Given the description of an element on the screen output the (x, y) to click on. 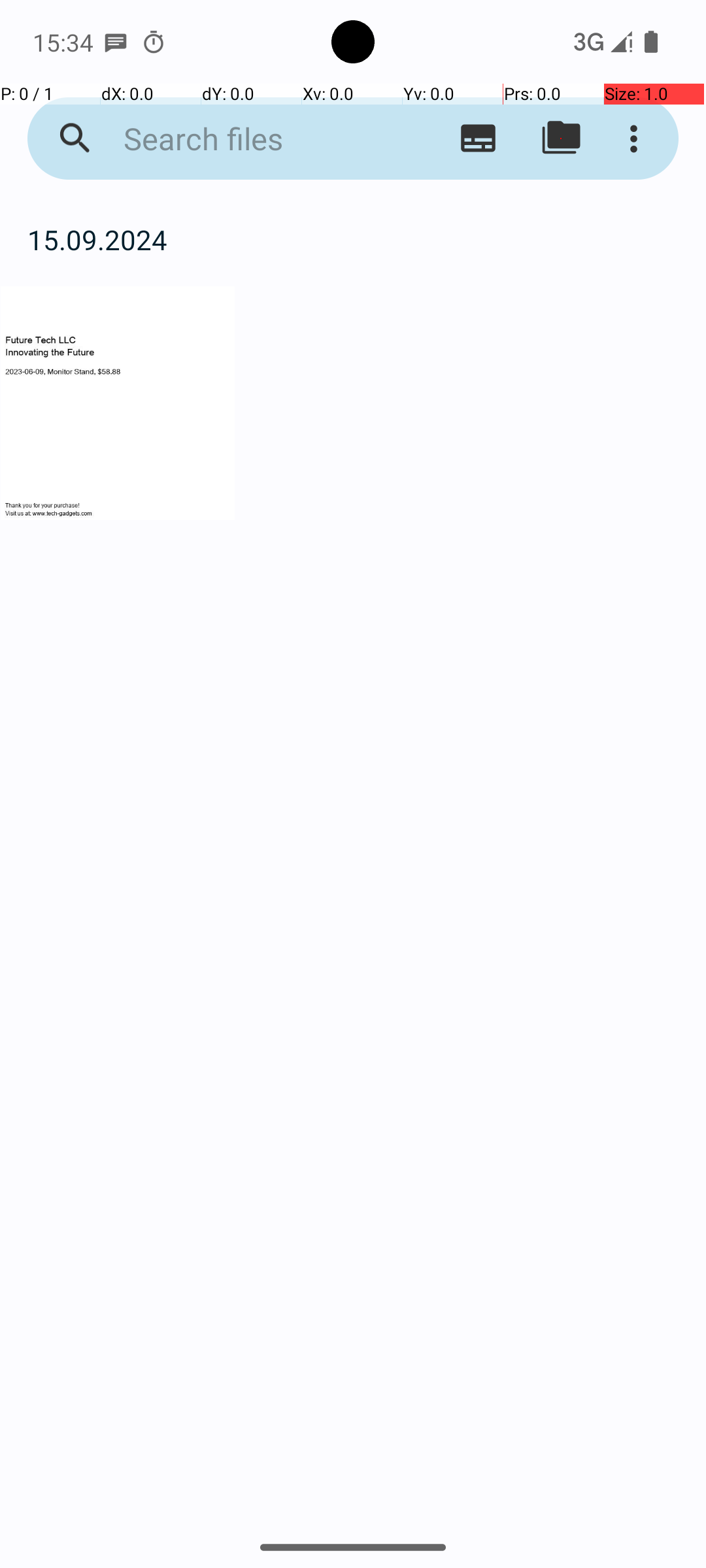
Search files Element type: android.widget.EditText (252, 138)
Switch to folder view Element type: android.widget.Button (560, 138)
15.09.2024 Element type: android.widget.TextView (353, 239)
